Given the description of an element on the screen output the (x, y) to click on. 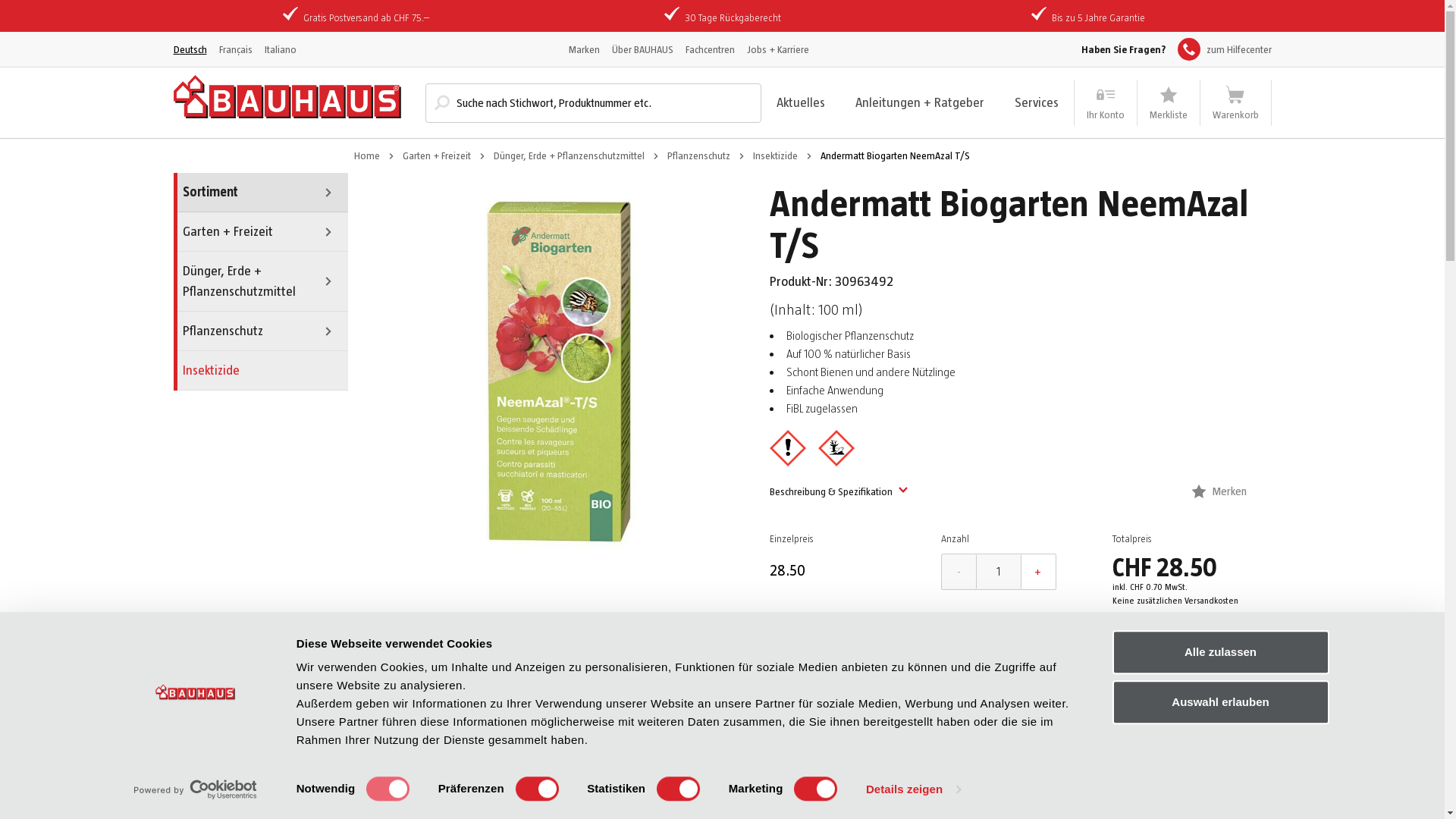
Italiano Element type: text (279, 48)
Home Element type: text (366, 155)
Garten + Freizeit Element type: text (259, 231)
Details zeigen Element type: text (913, 789)
Fachcenter wechseln Element type: text (826, 724)
Sortiment Element type: text (259, 192)
Beschreibung & Spezifikation Element type: text (838, 491)
Bis zu 5 Jahre Garantie Element type: text (1098, 17)
Garten + Freizeit Element type: text (435, 155)
Merkliste Element type: text (1168, 102)
+ Element type: text (1037, 571)
Merken Element type: text (1218, 491)
Liefern lassen Element type: text (1150, 654)
Fachcentren Element type: text (709, 48)
zum Hilfecenter Element type: text (1223, 48)
Insektizide Element type: text (259, 370)
Anleitungen + Ratgeber Element type: text (919, 101)
Insektizide Element type: text (774, 155)
- Element type: text (958, 571)
Alle zulassen Element type: text (1219, 652)
Marken Element type: text (583, 48)
Jobs + Karriere Element type: text (777, 48)
Pflanzenschutz Element type: text (698, 155)
Click & Collect Element type: text (890, 654)
Aktuelles Element type: text (800, 101)
Andermatt Biogarten NeemAzal T/S Element type: hover (557, 371)
Auswahl erlauben Element type: text (1219, 702)
Pflanzenschutz Element type: text (259, 331)
Services Element type: text (1036, 101)
